Given the description of an element on the screen output the (x, y) to click on. 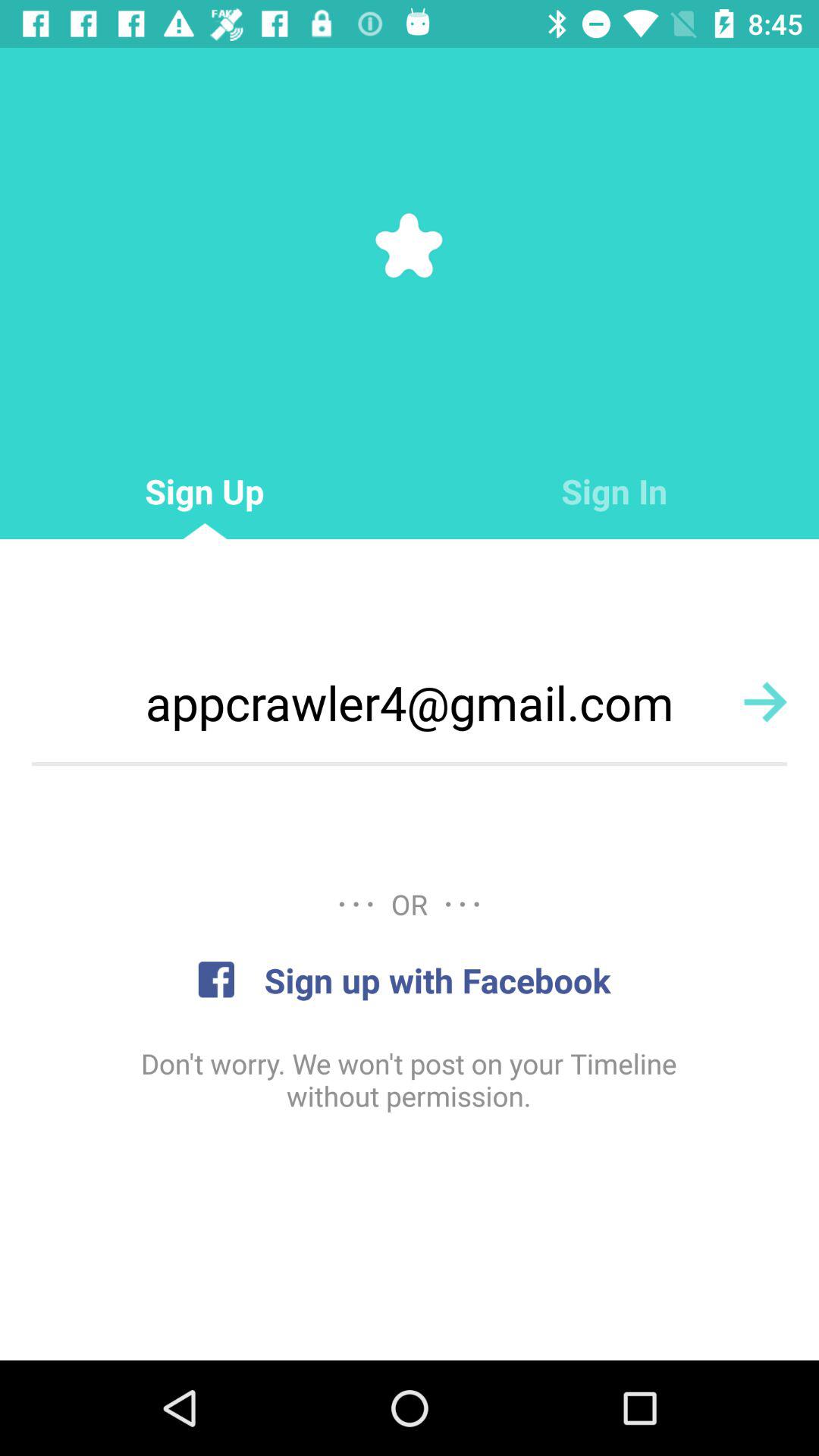
select the sign in item (614, 491)
